Given the description of an element on the screen output the (x, y) to click on. 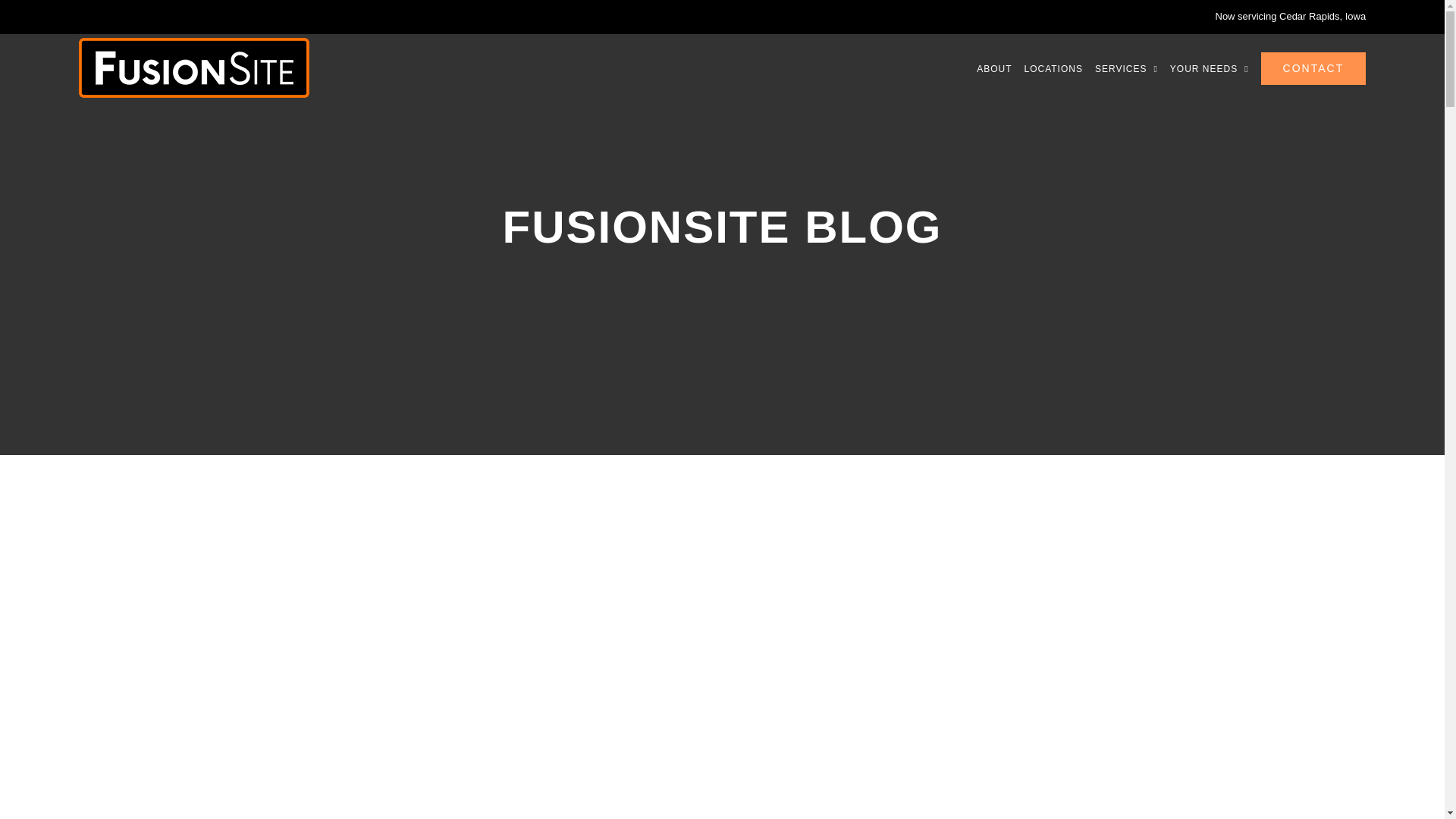
CONTACT (1313, 68)
Now servicing Cedar Rapids, Iowa (1289, 16)
YOUR NEEDS (1209, 68)
ABOUT (993, 68)
SERVICES (1125, 68)
LOCATIONS (1052, 68)
